Given the description of an element on the screen output the (x, y) to click on. 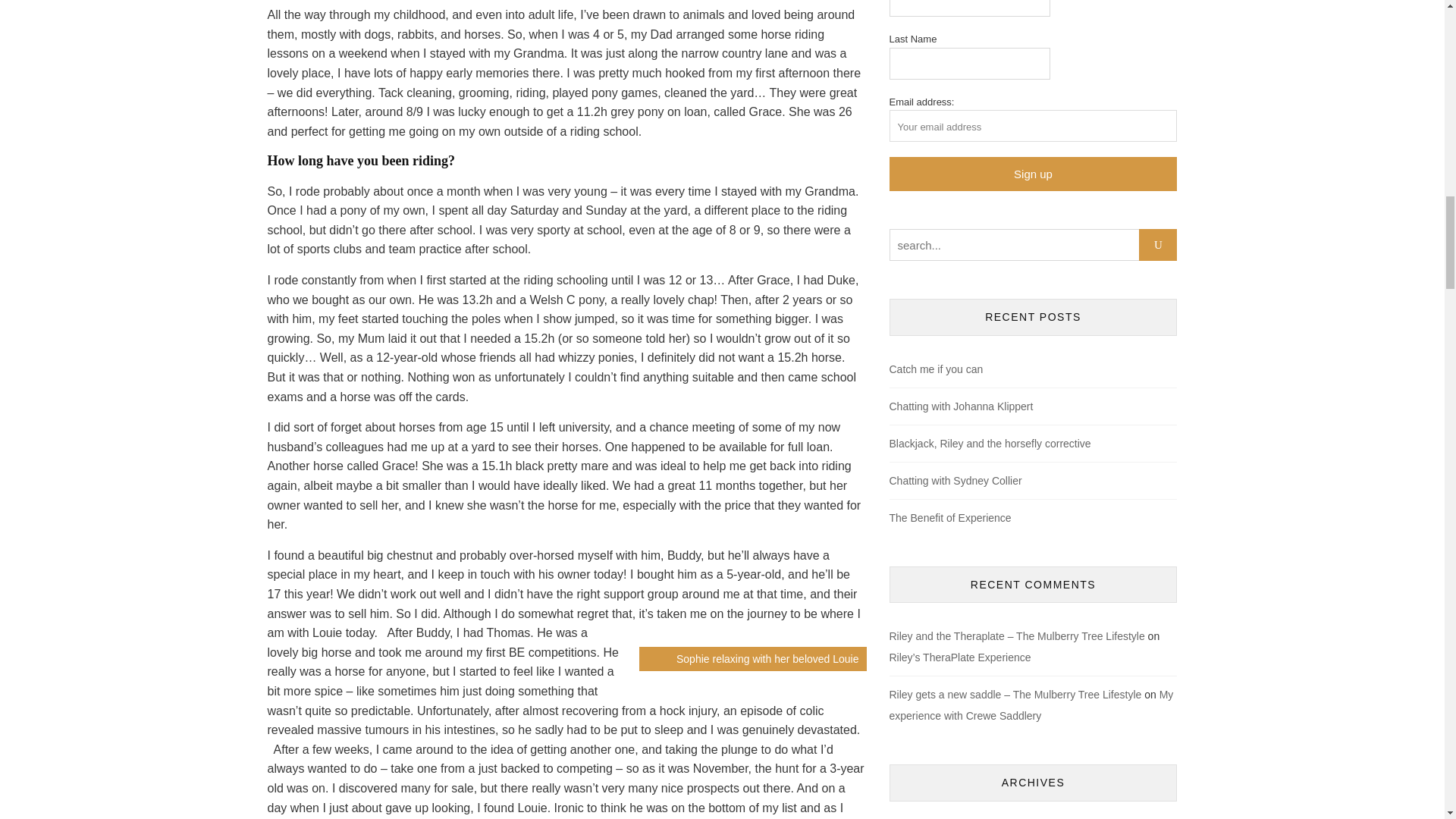
Sign up (1032, 173)
